Given the description of an element on the screen output the (x, y) to click on. 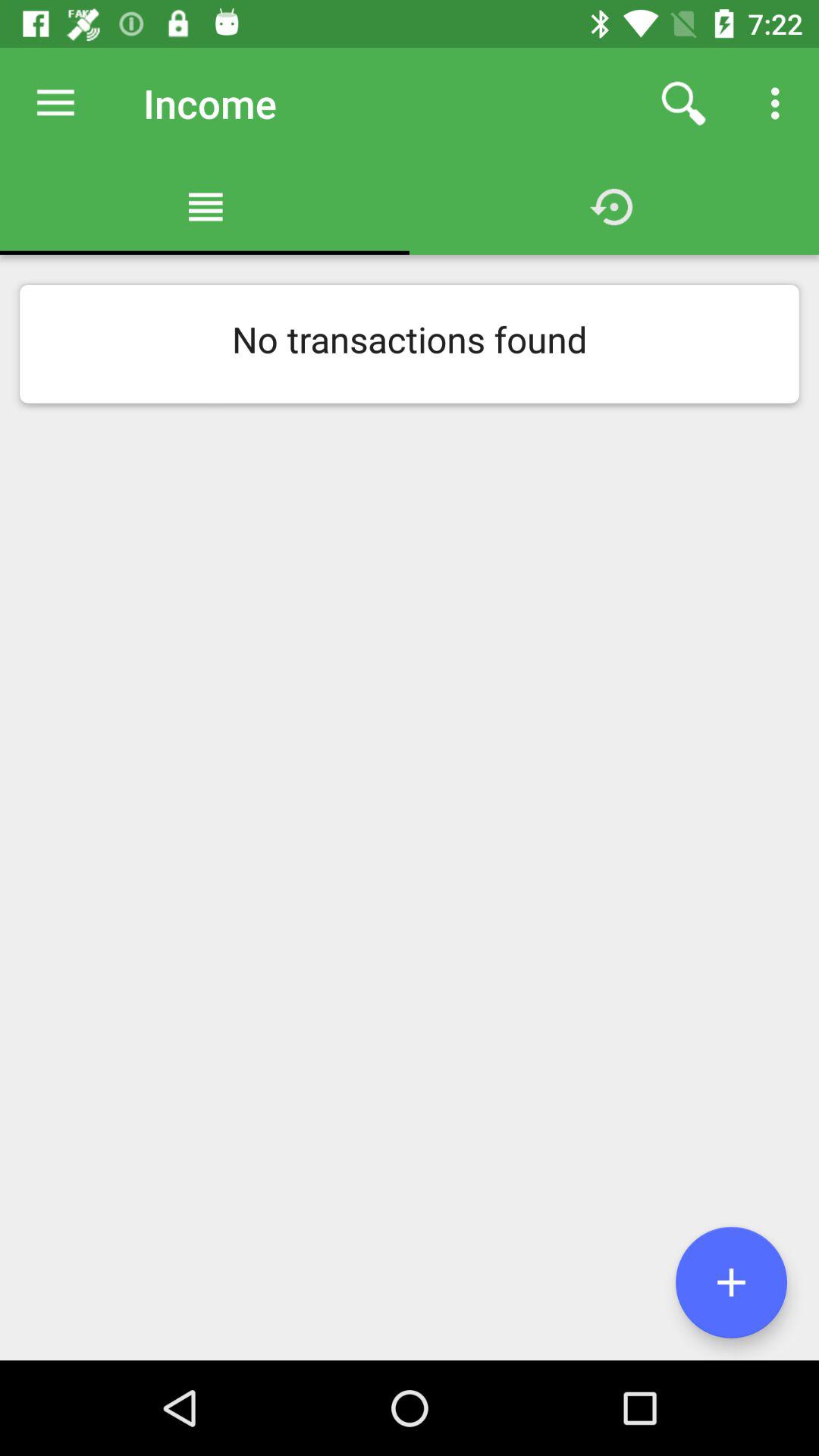
open the icon to the left of income item (55, 103)
